Given the description of an element on the screen output the (x, y) to click on. 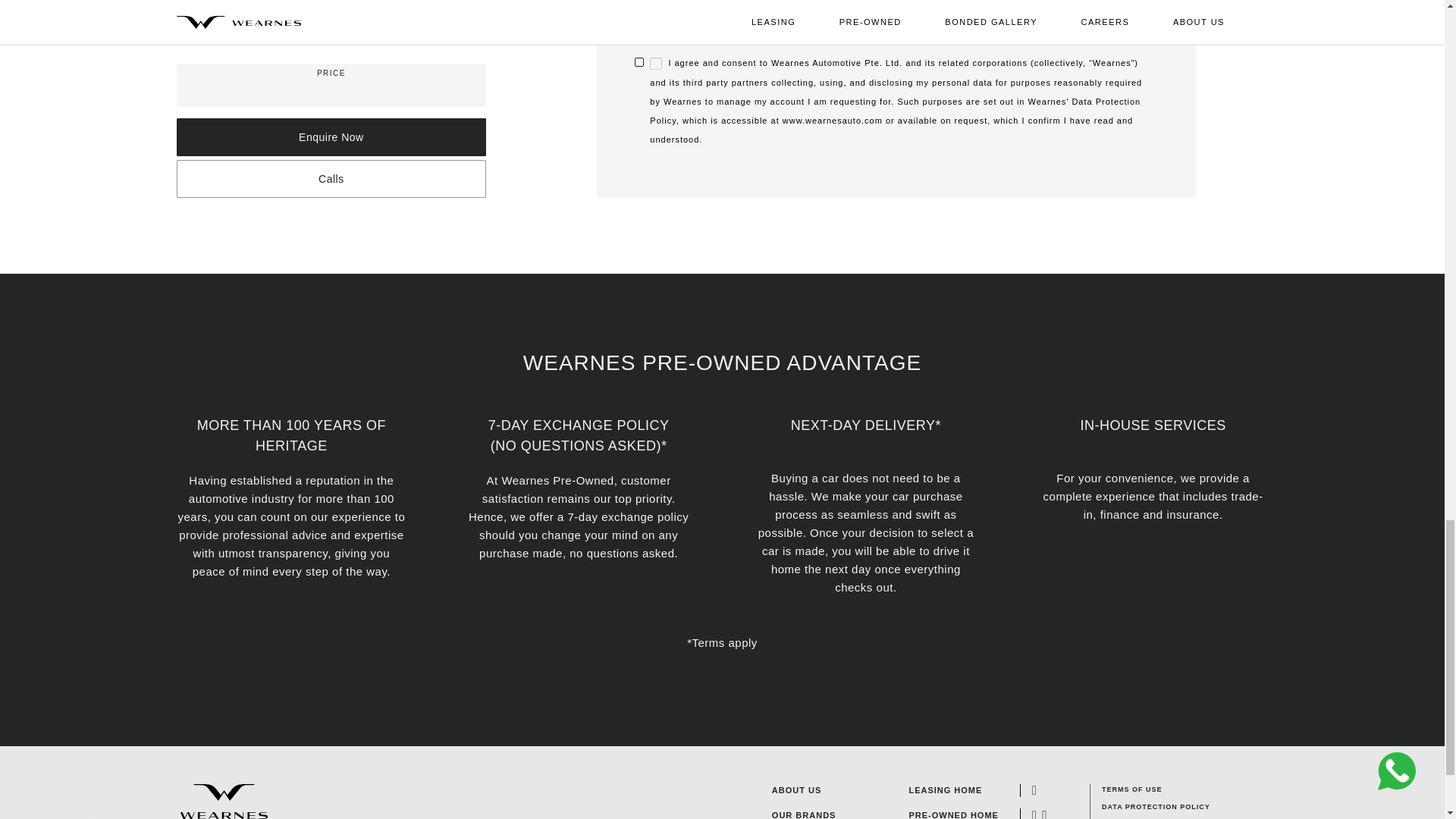
LEASING HOME (953, 790)
ABOUT US (796, 790)
TERMS OF USE (1155, 788)
PRE-OWNED HOME (953, 814)
DATA PROTECTION POLICY (1155, 806)
OUR BRANDS (803, 814)
Send Enquiry (725, 6)
1 (655, 63)
Send Enquiry (725, 6)
